Given the description of an element on the screen output the (x, y) to click on. 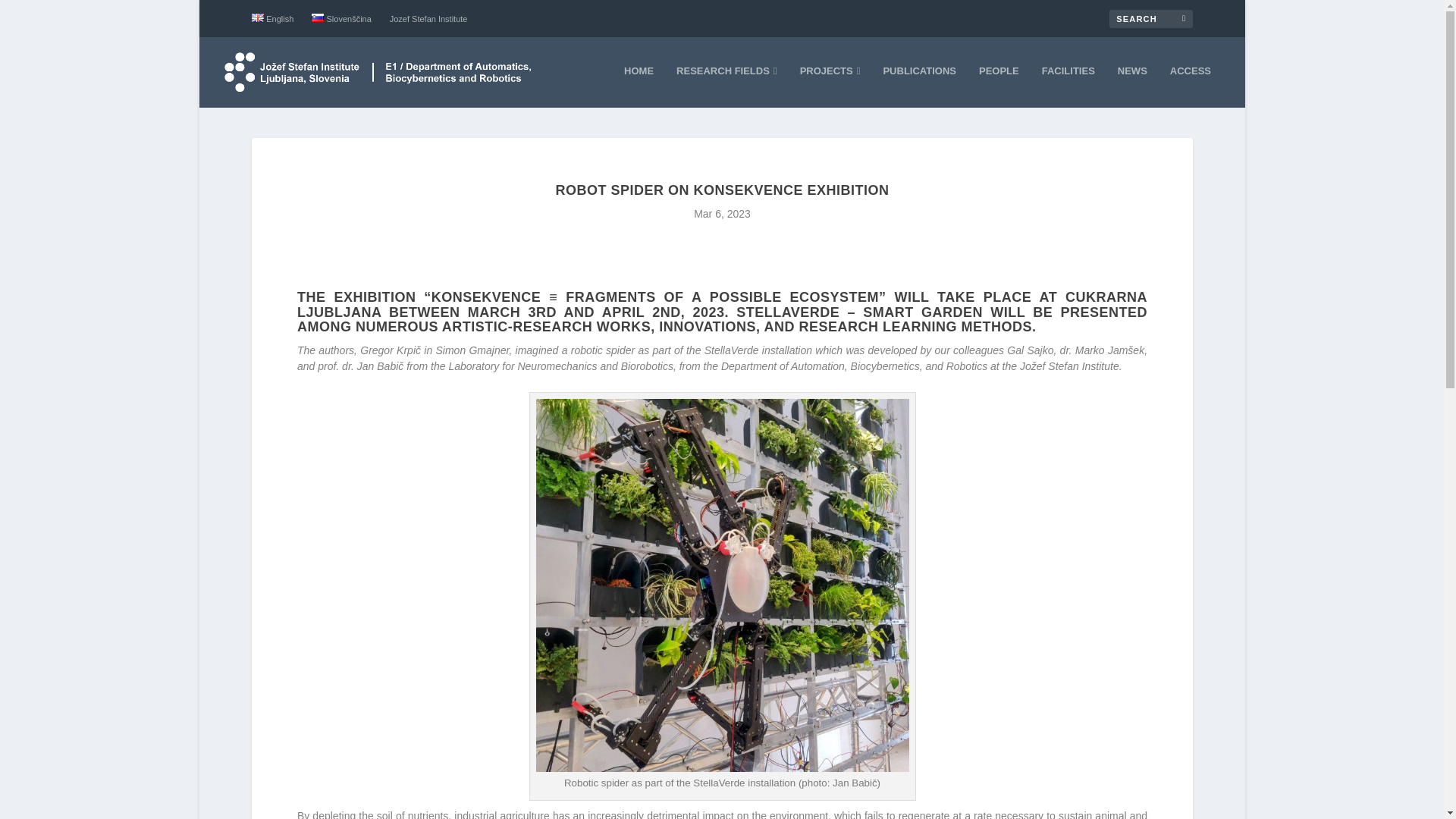
PEOPLE (998, 86)
PROJECTS (829, 86)
PUBLICATIONS (919, 86)
Jozef Stefan Institute (428, 18)
English (272, 18)
RESEARCH FIELDS (727, 86)
